Given the description of an element on the screen output the (x, y) to click on. 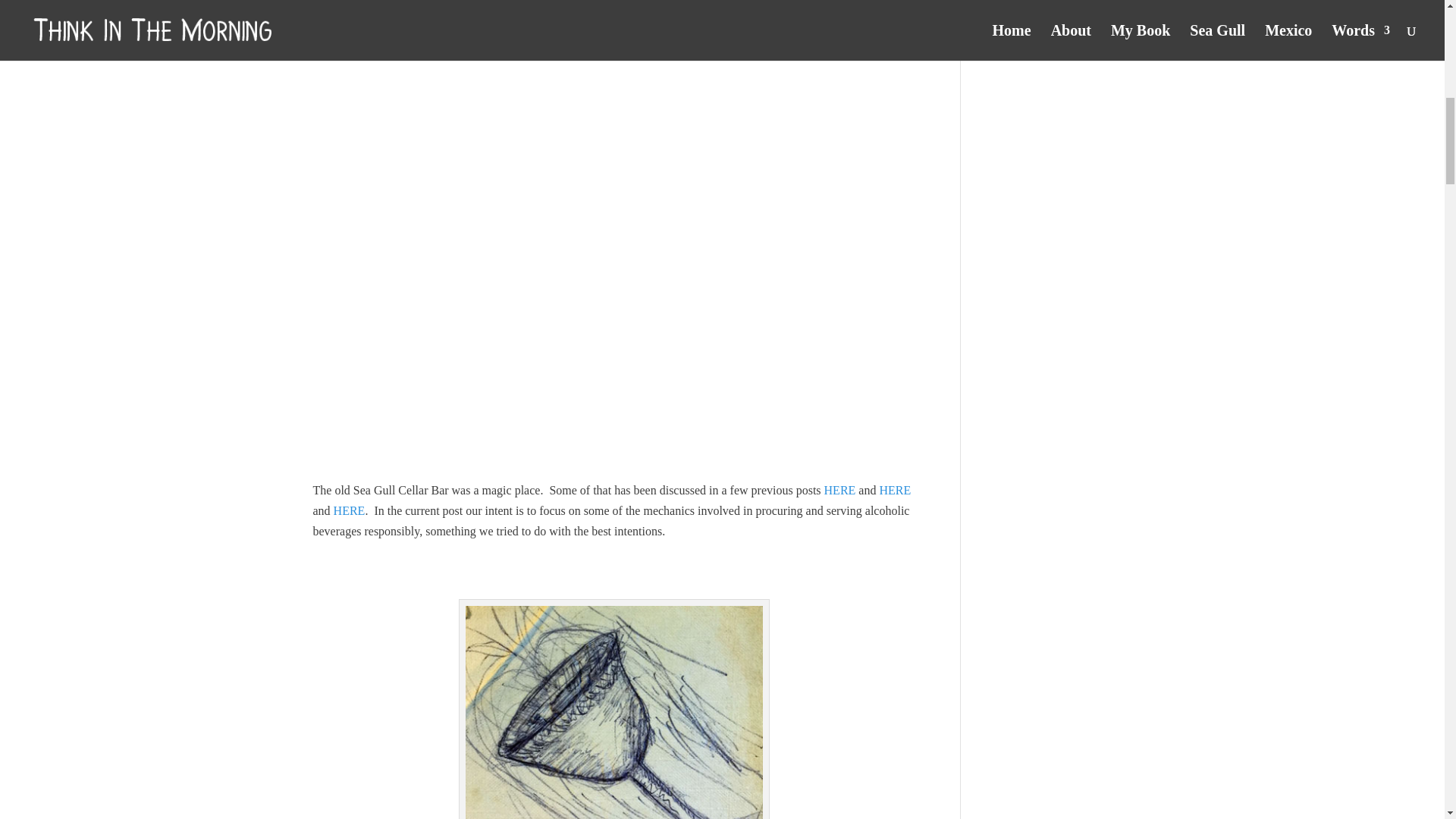
HERE (349, 510)
HERE (895, 490)
HERE (840, 490)
